Given the description of an element on the screen output the (x, y) to click on. 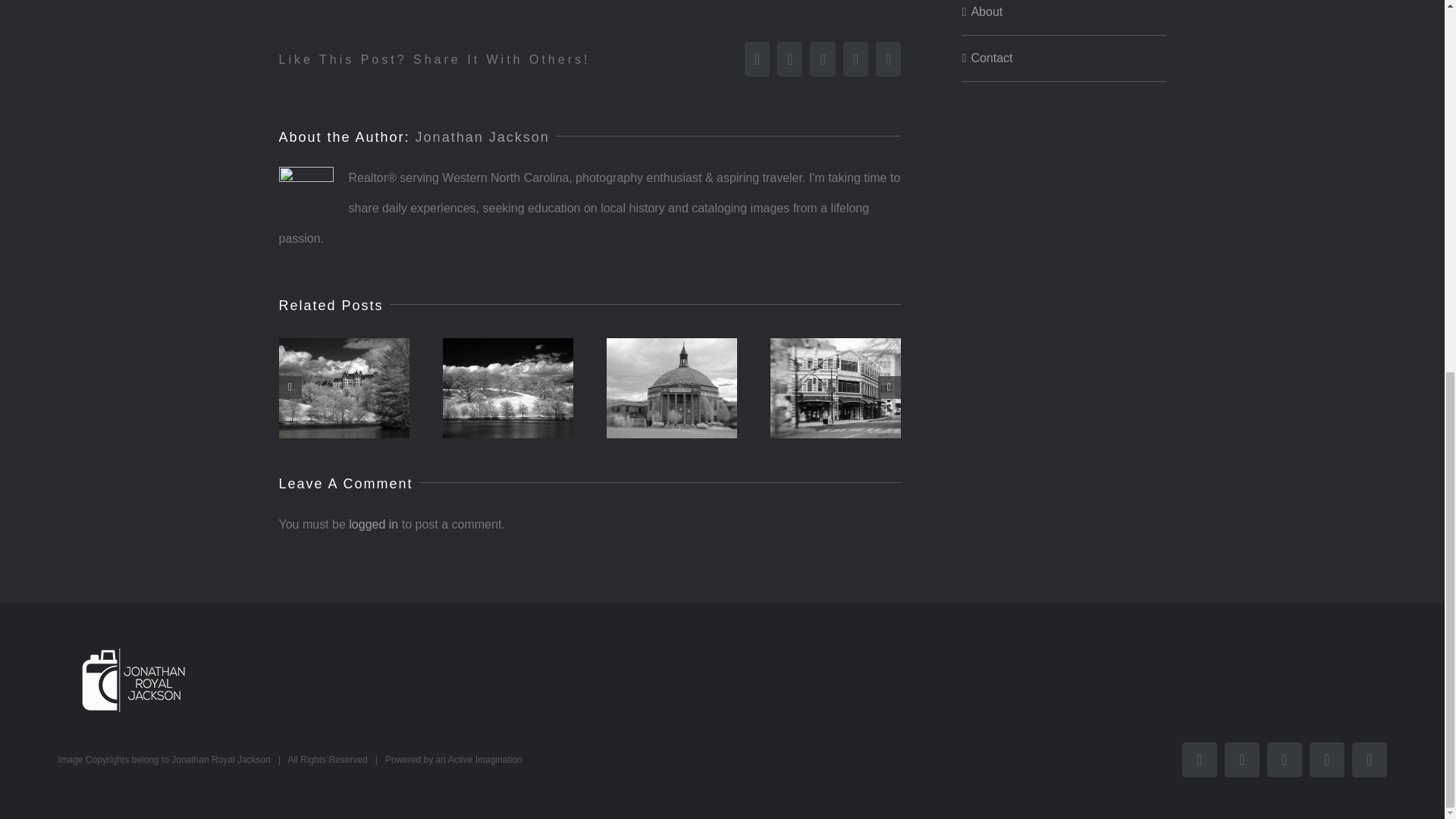
logged in (373, 523)
Jonathan Jackson (482, 136)
Posts by Jonathan Jackson (482, 136)
